Given the description of an element on the screen output the (x, y) to click on. 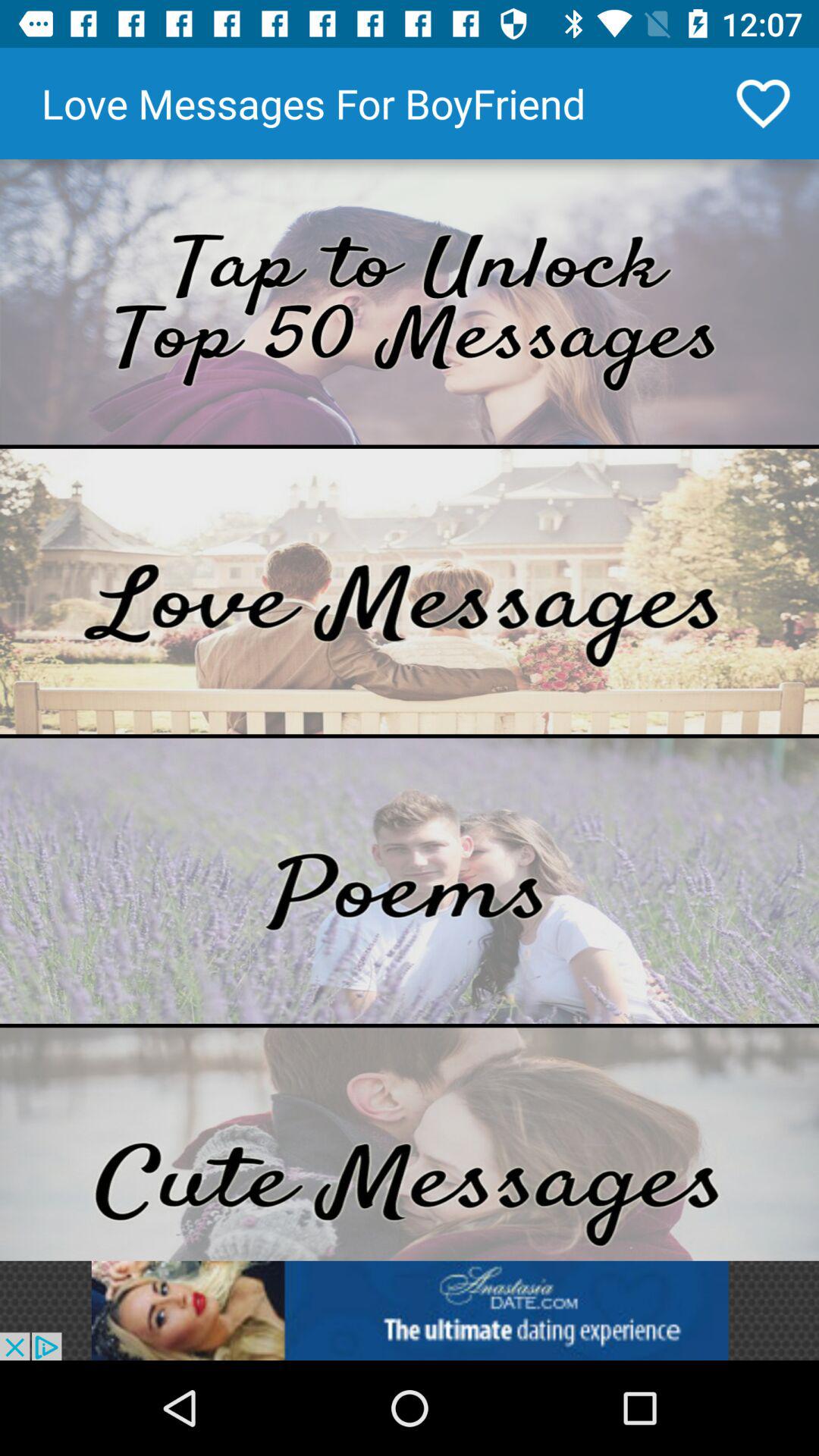
af (409, 591)
